Given the description of an element on the screen output the (x, y) to click on. 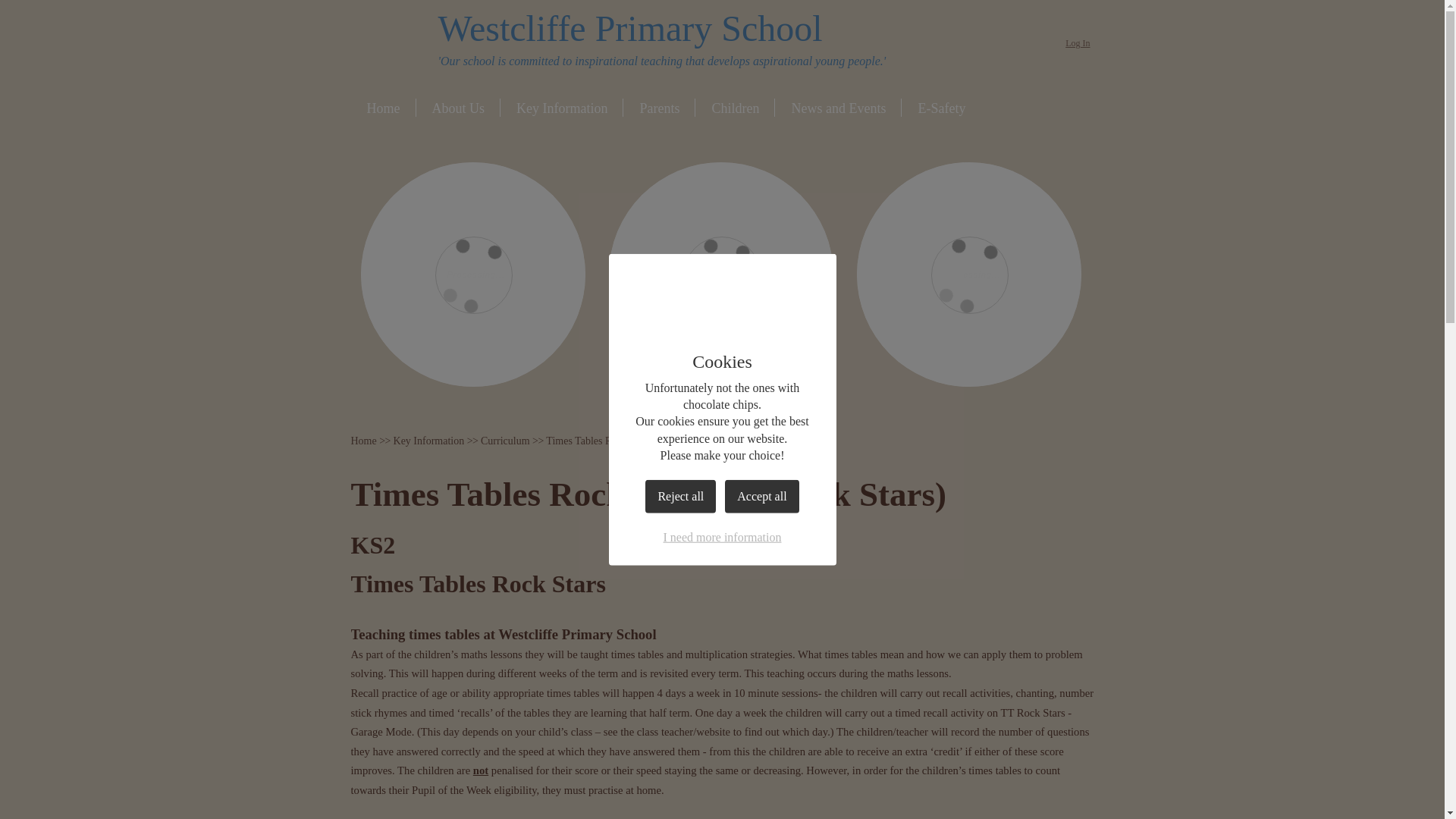
Home (383, 109)
Key Information (428, 440)
Home Page (389, 42)
Curriculum (504, 440)
Home Page (389, 42)
Home (362, 440)
Key Information (561, 109)
Log In (1077, 43)
About Us (458, 109)
